Given the description of an element on the screen output the (x, y) to click on. 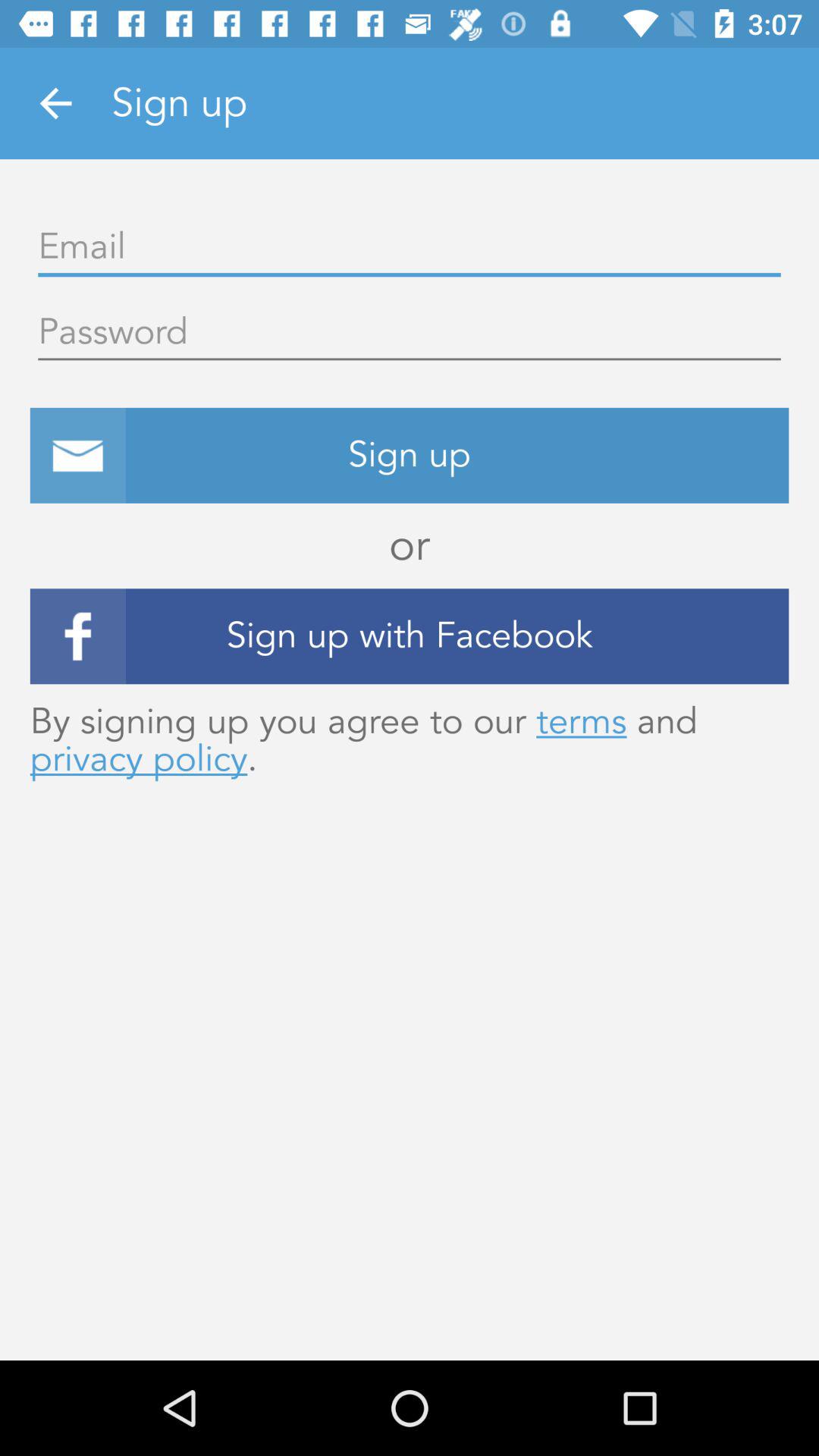
enter email to sign up (409, 247)
